Given the description of an element on the screen output the (x, y) to click on. 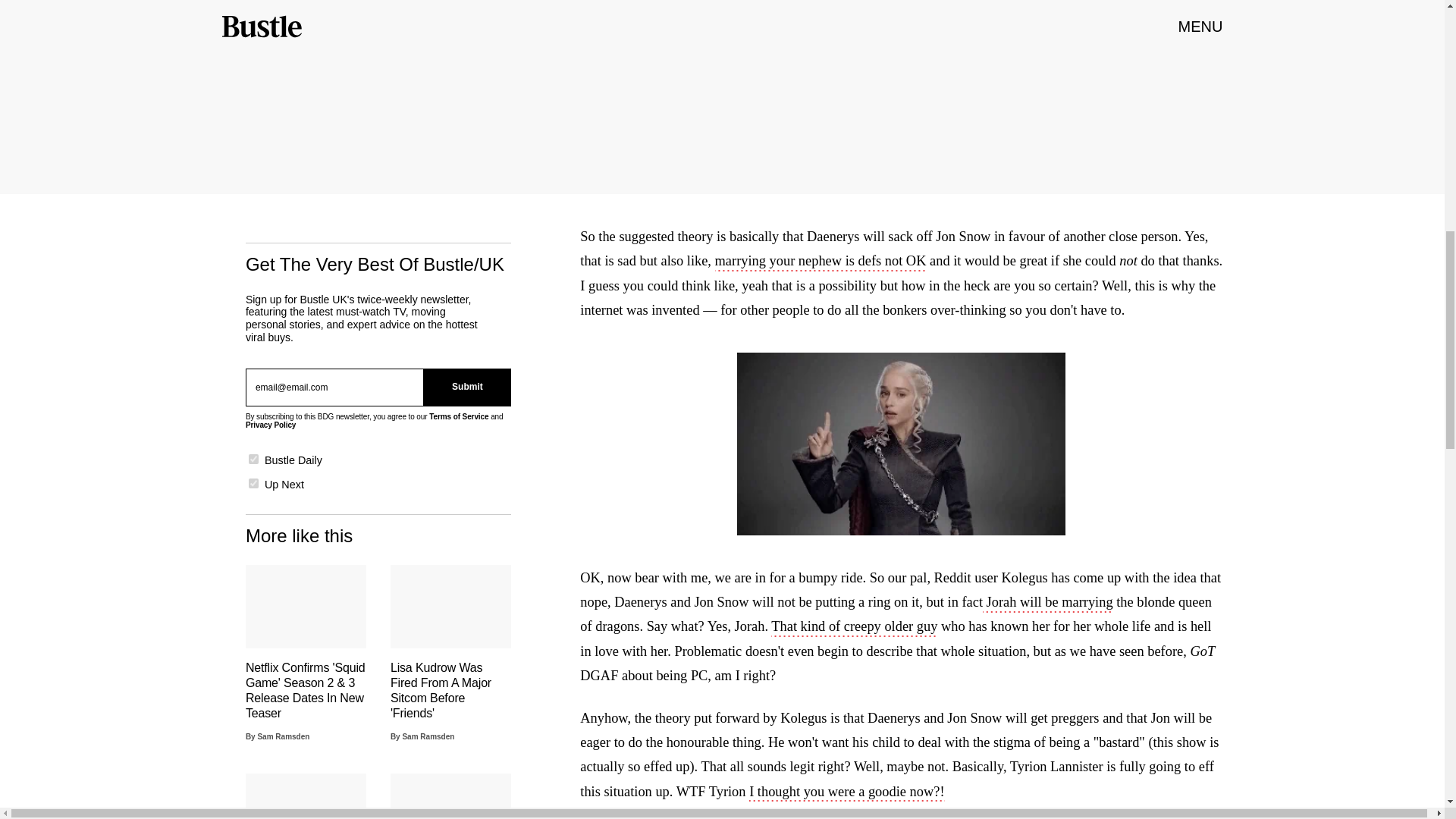
That kind of creepy older guy (854, 628)
Privacy Policy (270, 424)
I thought you were a goodie now?! (846, 792)
Jorah will be marrying (1047, 603)
Submit (467, 387)
Terms of Service (458, 416)
marrying your nephew is defs not OK (820, 262)
